Given the description of an element on the screen output the (x, y) to click on. 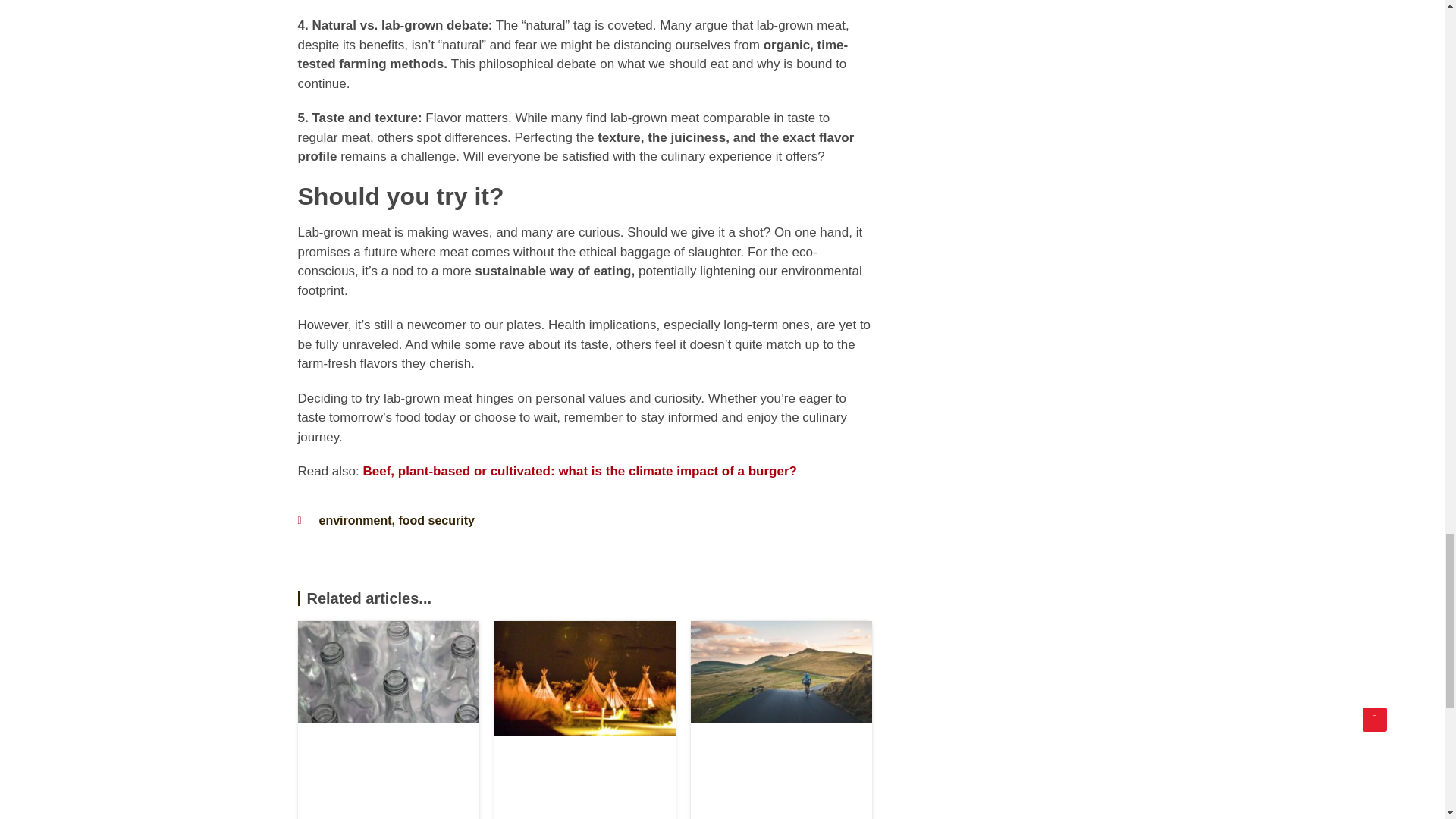
environment (354, 520)
food security (435, 520)
